Given the description of an element on the screen output the (x, y) to click on. 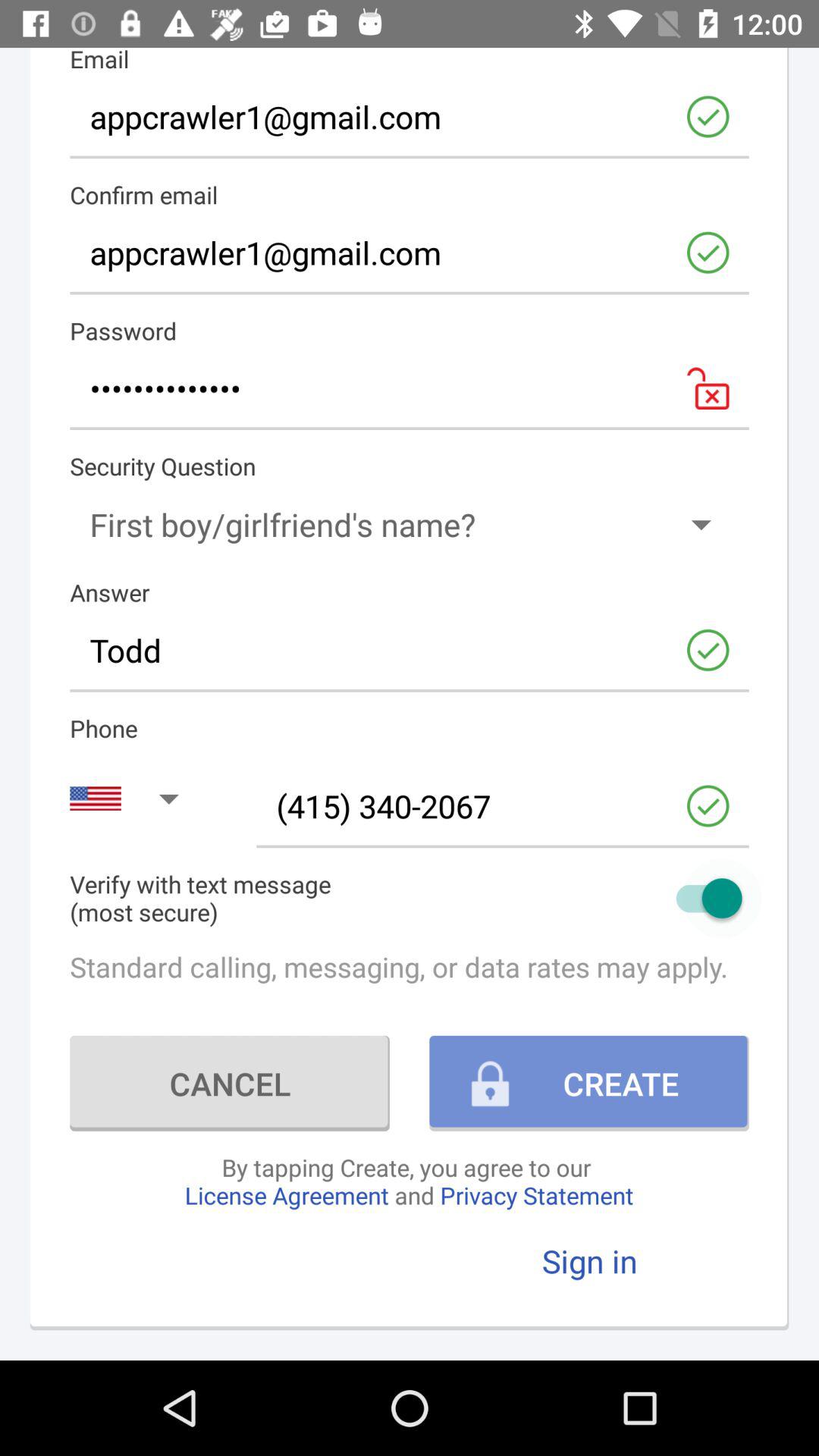
flip until cancel icon (229, 1083)
